Given the description of an element on the screen output the (x, y) to click on. 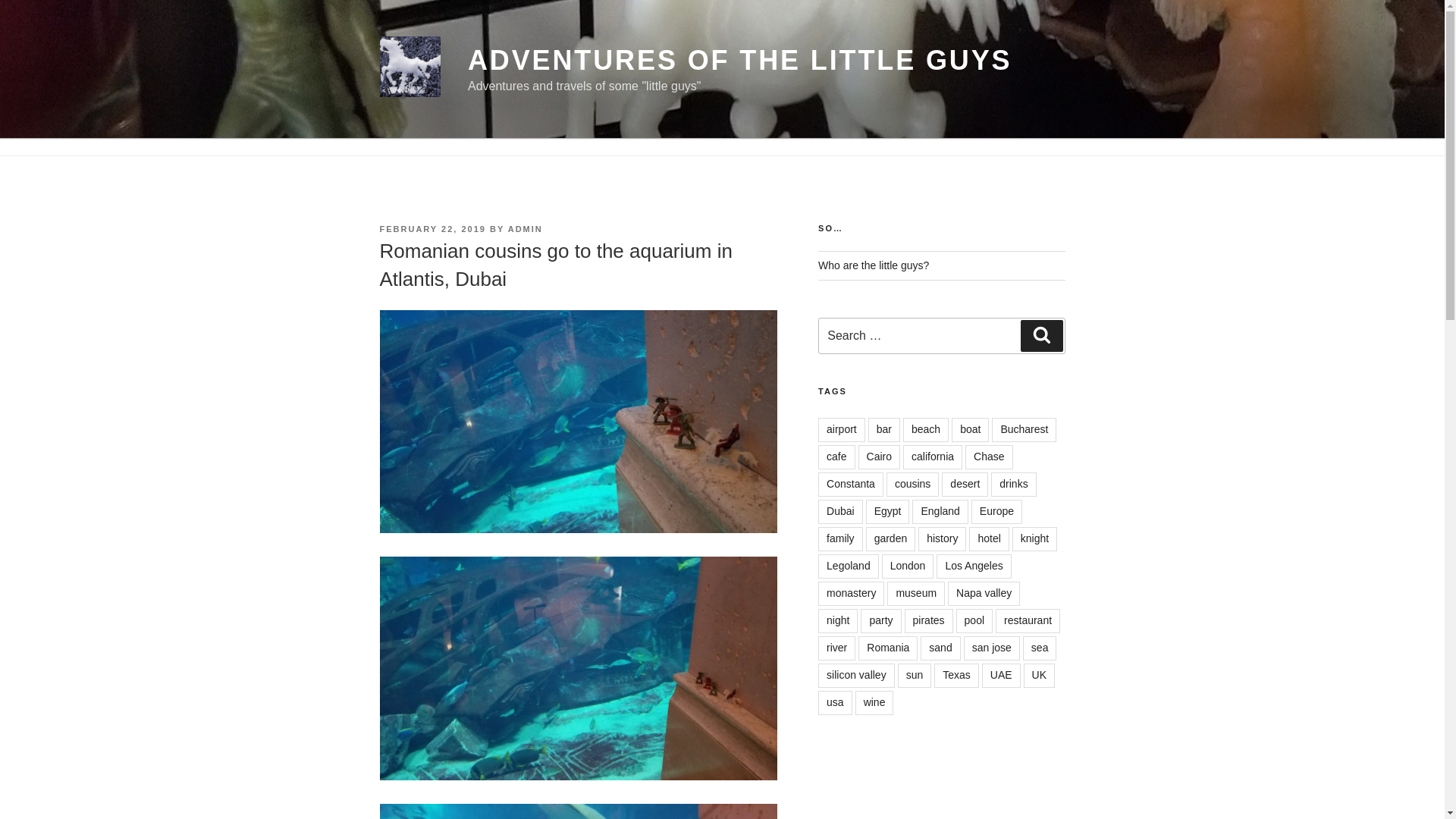
garden (890, 539)
Cairo (879, 457)
california (932, 457)
Europe (996, 511)
boat (970, 429)
hotel (989, 539)
drinks (1013, 484)
desert (965, 484)
Dubai (840, 511)
family (840, 539)
cousins (912, 484)
beach (925, 429)
Bucharest (1024, 429)
Constanta (850, 484)
ADMIN (525, 228)
